Given the description of an element on the screen output the (x, y) to click on. 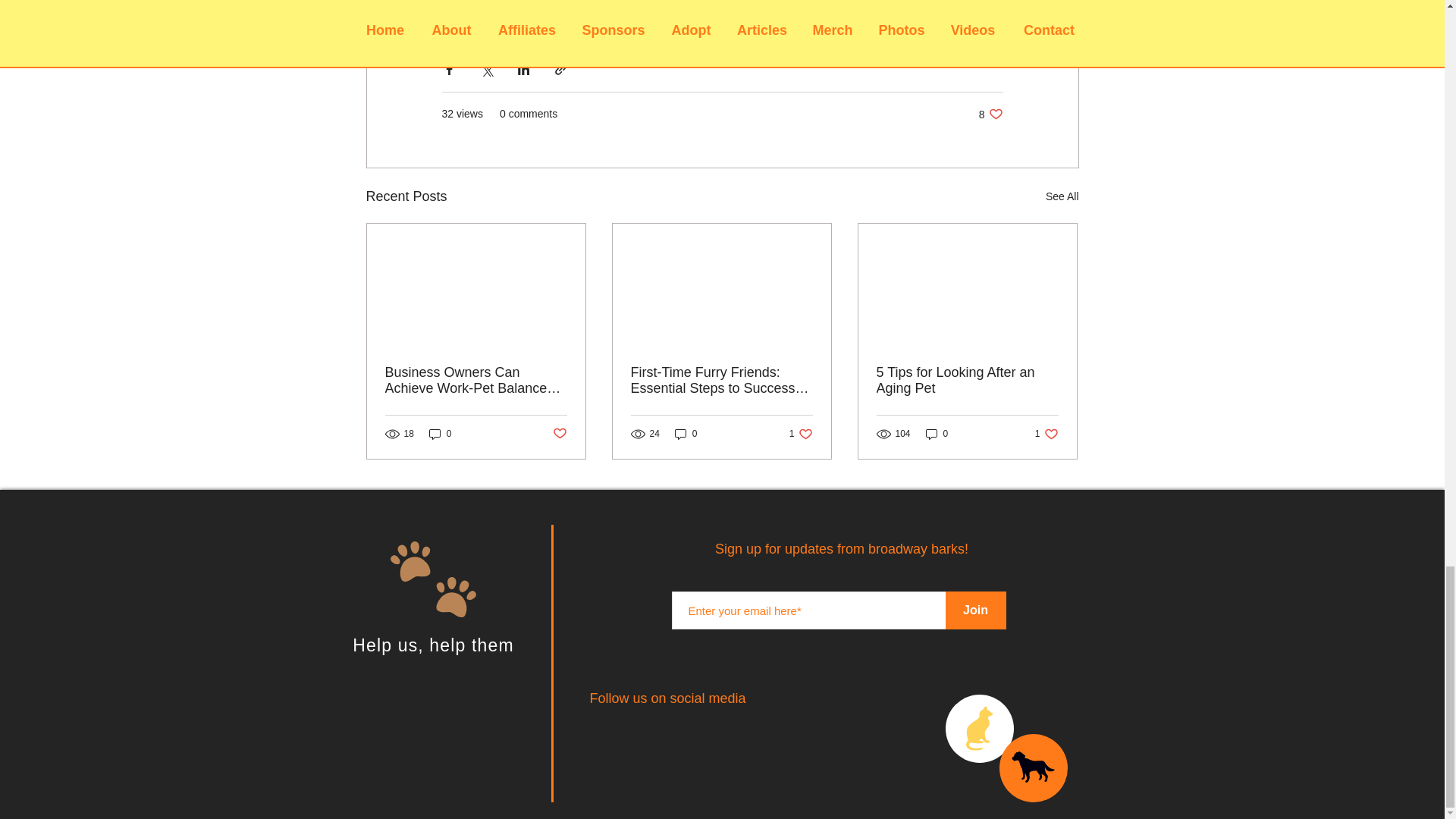
Join (975, 610)
See All (1061, 196)
Donate Here (479, 0)
0 (800, 433)
0 (685, 433)
Post not marked as liked (937, 433)
0 (558, 433)
Business Owners Can Achieve Work-Pet Balance With These Tips (440, 433)
